Given the description of an element on the screen output the (x, y) to click on. 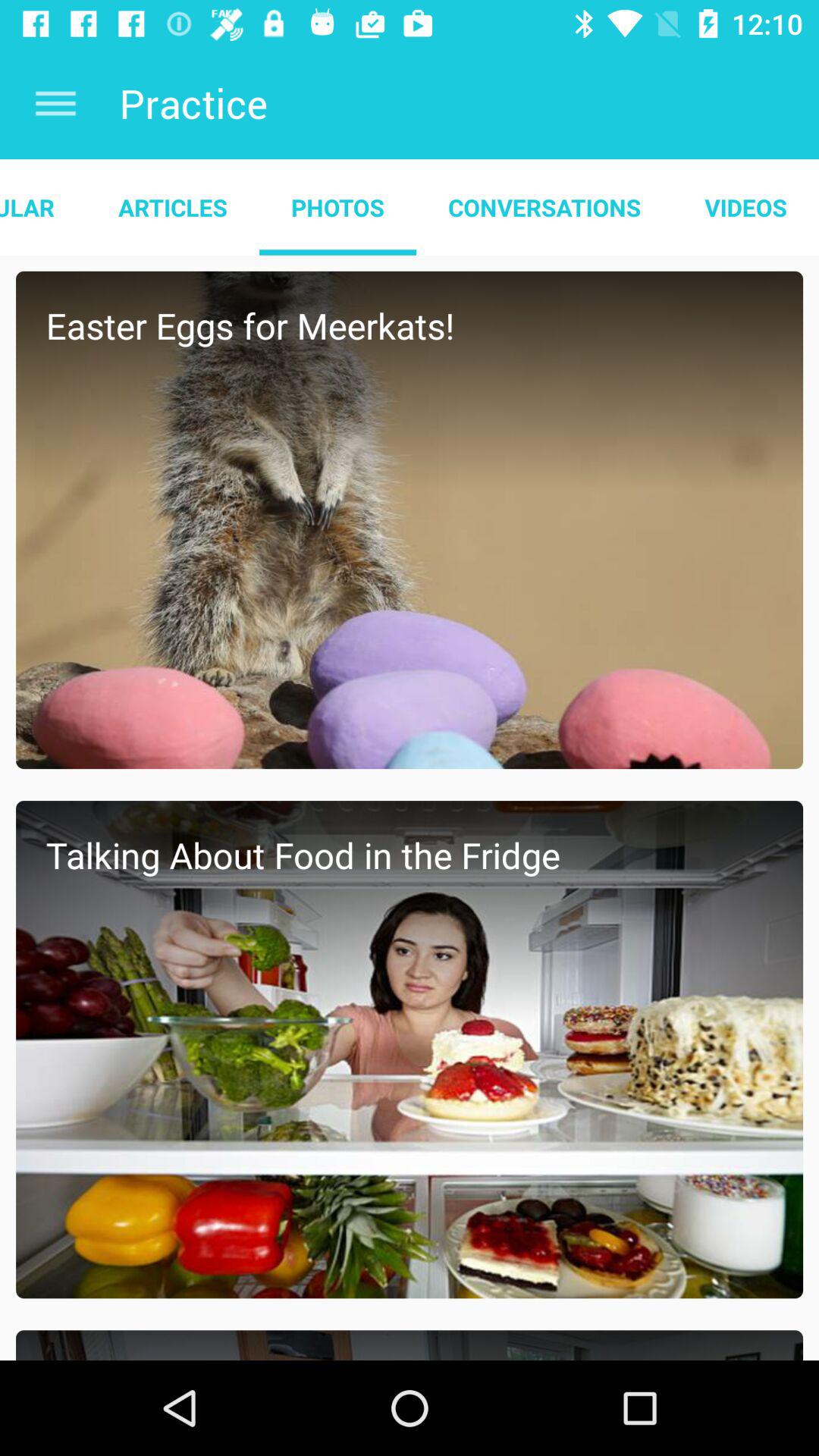
launch app next to videos (544, 207)
